Given the description of an element on the screen output the (x, y) to click on. 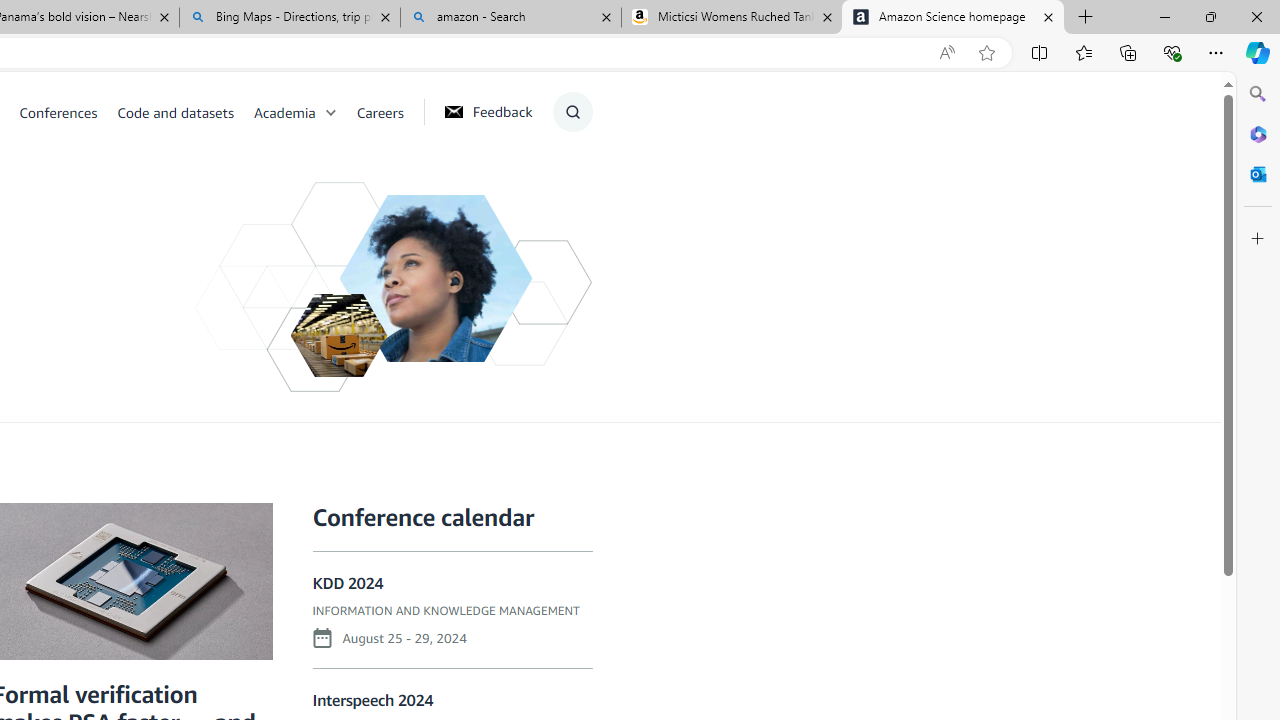
Academia (284, 111)
amazon - Search (510, 17)
Class: chevron (330, 116)
Show Search Form (571, 111)
Submit Search (565, 191)
Amazon Science homepage.jpeg (435, 278)
